Given the description of an element on the screen output the (x, y) to click on. 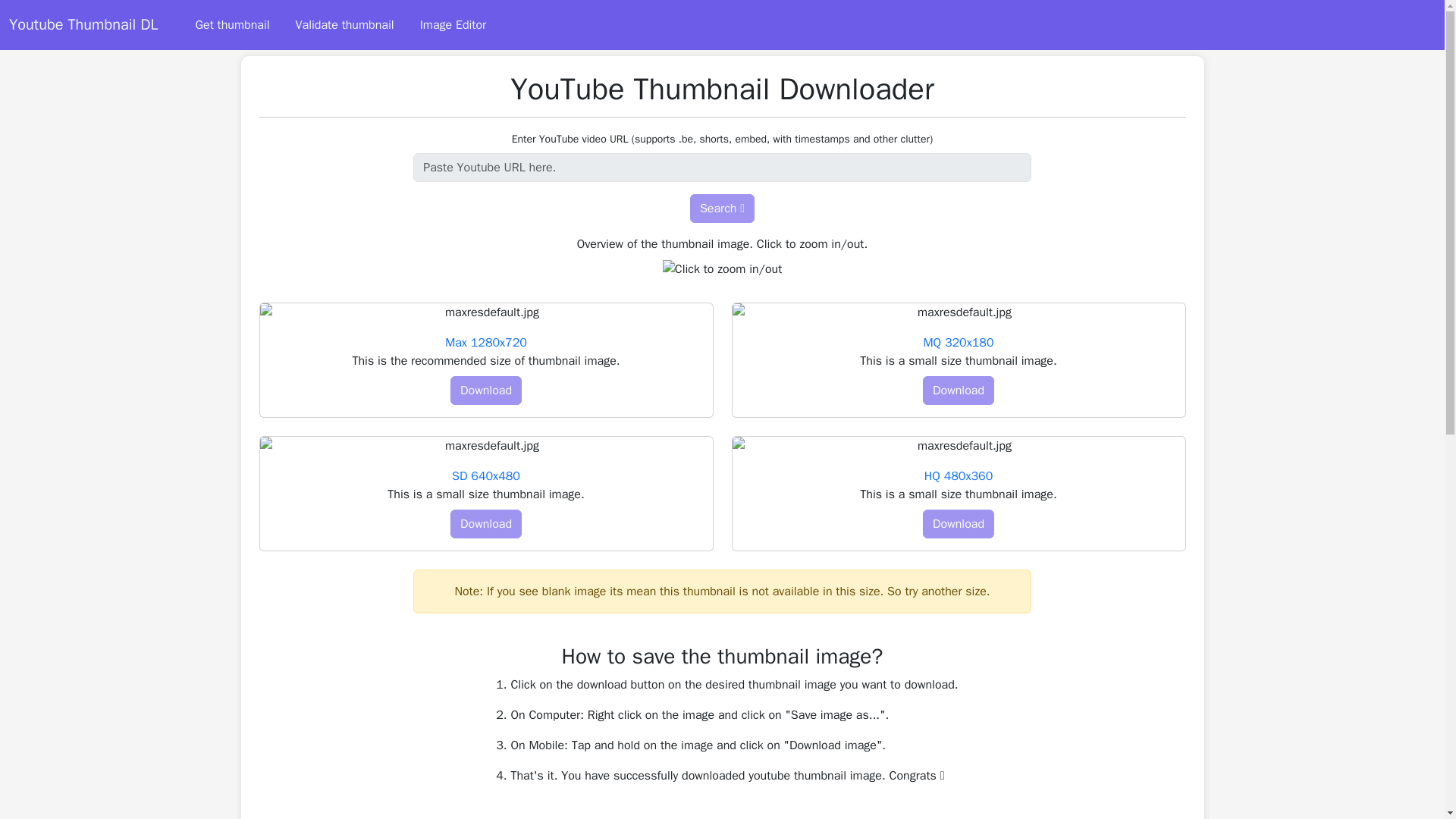
Validate thumbnail (344, 24)
Youtube Thumbnail DL (83, 24)
Download (485, 523)
Max 1280x720 (486, 342)
Download (958, 389)
Download (485, 389)
MQ 320x180 (957, 342)
Download (958, 523)
HQ 480x360 (958, 476)
Get thumbnail (232, 24)
Image Editor (453, 24)
